Given the description of an element on the screen output the (x, y) to click on. 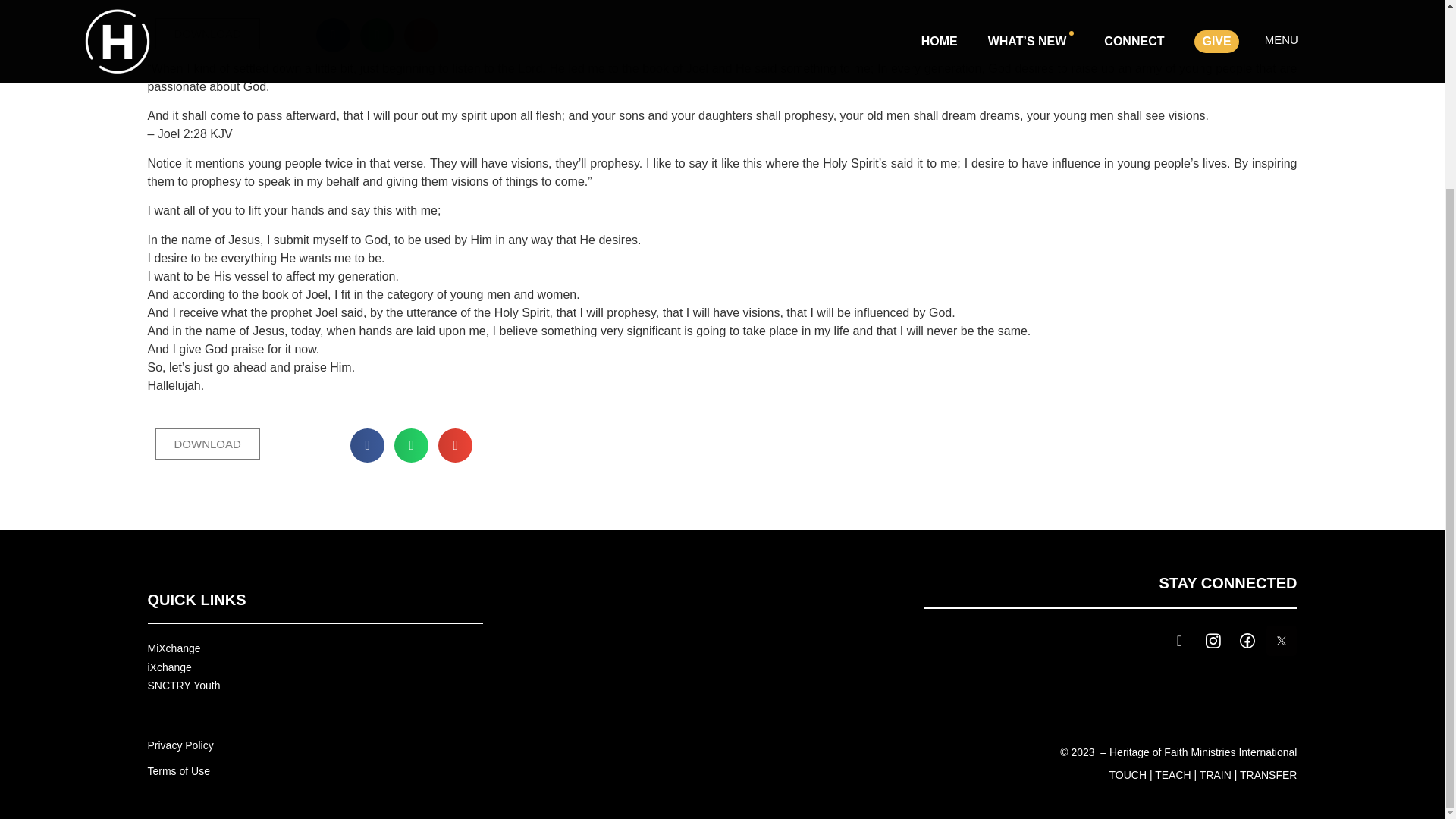
DOWNLOAD (206, 444)
MiXchange (173, 648)
Privacy Policy (179, 745)
SNCTRY Youth (183, 685)
Terms of Use (178, 770)
DOWNLOAD (206, 33)
iXchange (168, 666)
